Given the description of an element on the screen output the (x, y) to click on. 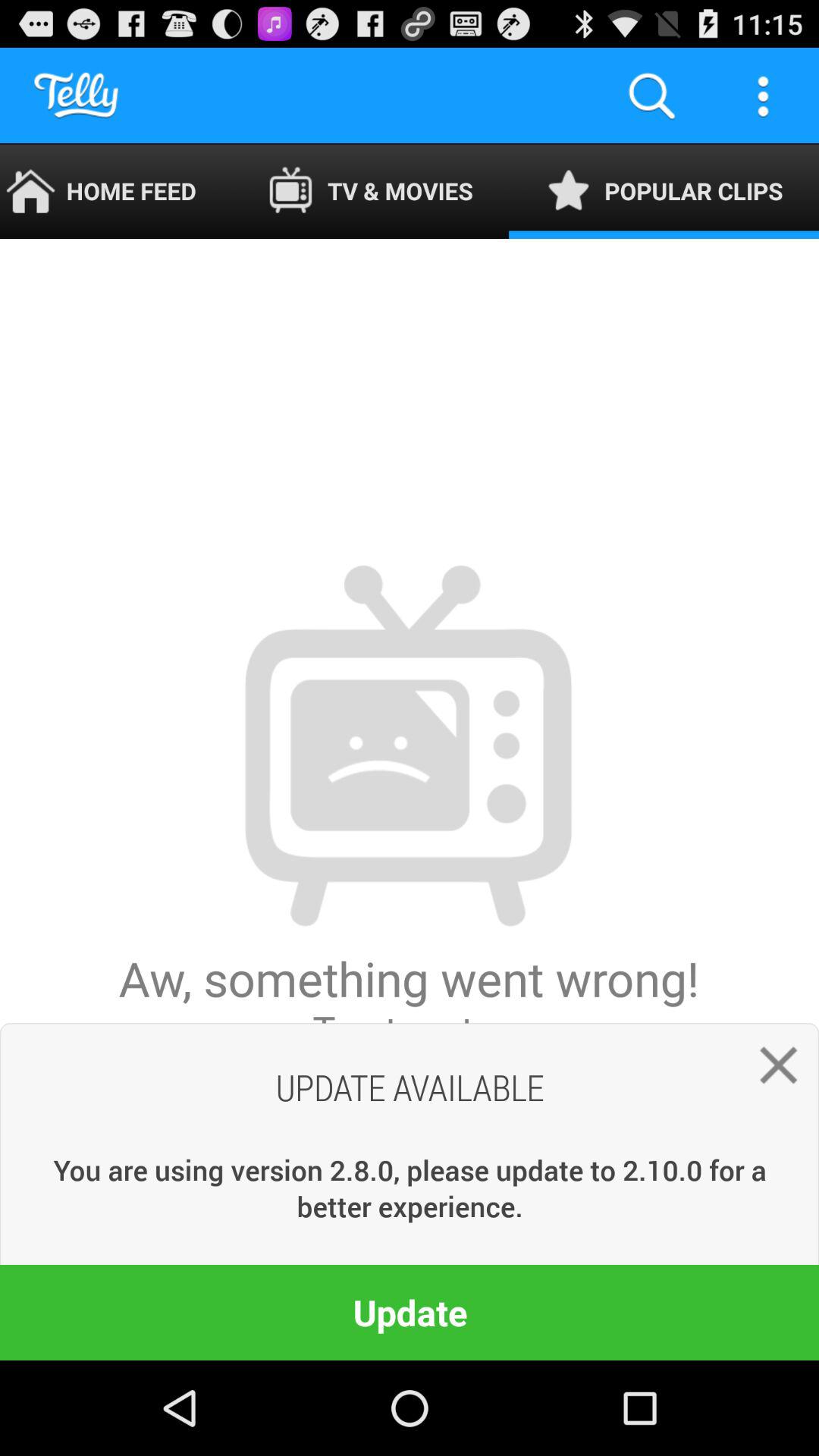
click the item next to tv & movies app (116, 190)
